Given the description of an element on the screen output the (x, y) to click on. 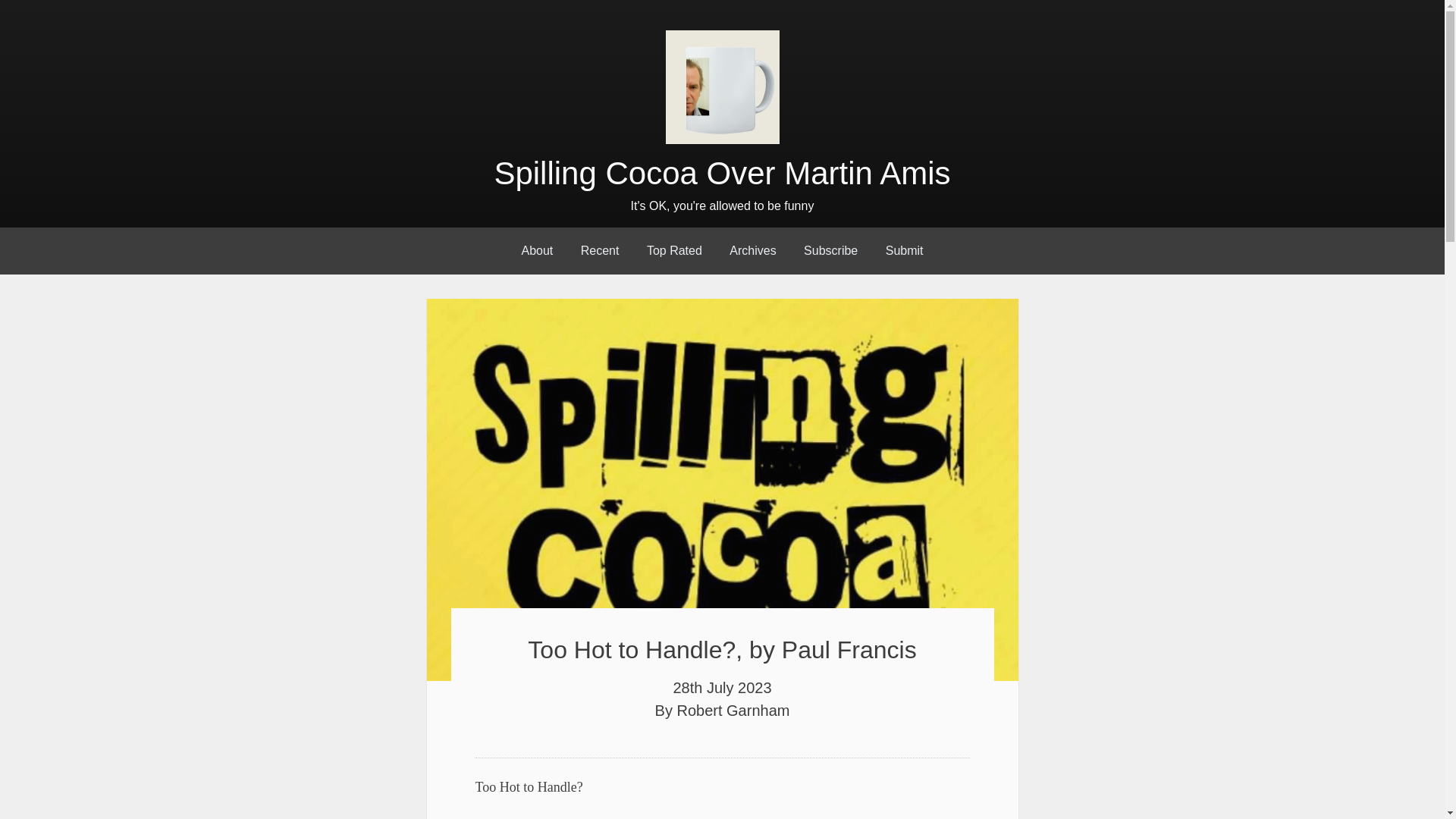
Spilling Cocoa Over Martin Amis (721, 172)
About (536, 250)
Submit (904, 250)
28th July 2023 (721, 687)
Subscribe (830, 250)
Top Rated (674, 250)
Robert Garnham (733, 710)
Recent (600, 250)
Archives (752, 250)
